Given the description of an element on the screen output the (x, y) to click on. 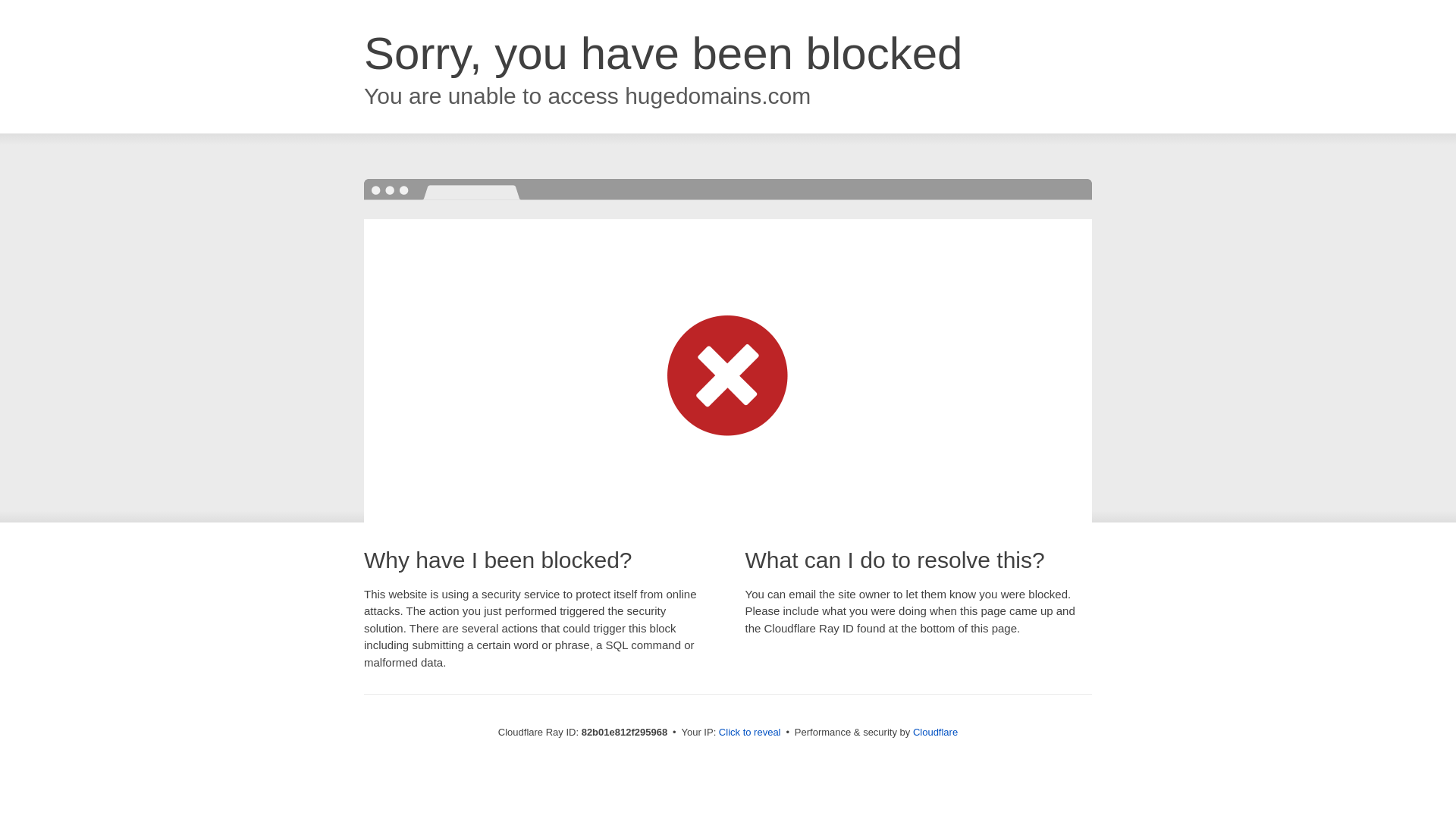
Cloudflare Element type: text (935, 731)
Click to reveal Element type: text (749, 732)
